Given the description of an element on the screen output the (x, y) to click on. 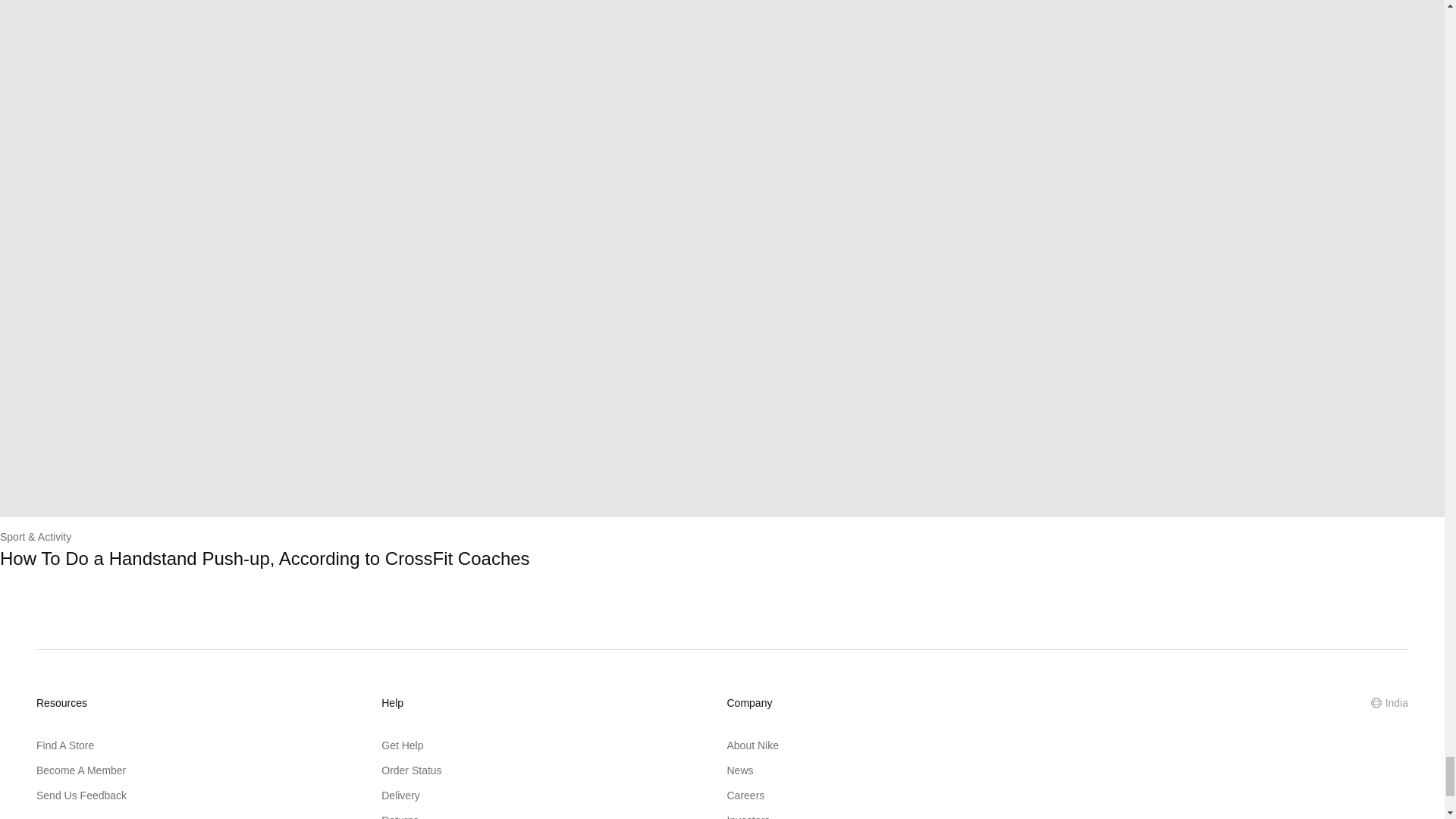
Selected Location: India (1388, 702)
